Given the description of an element on the screen output the (x, y) to click on. 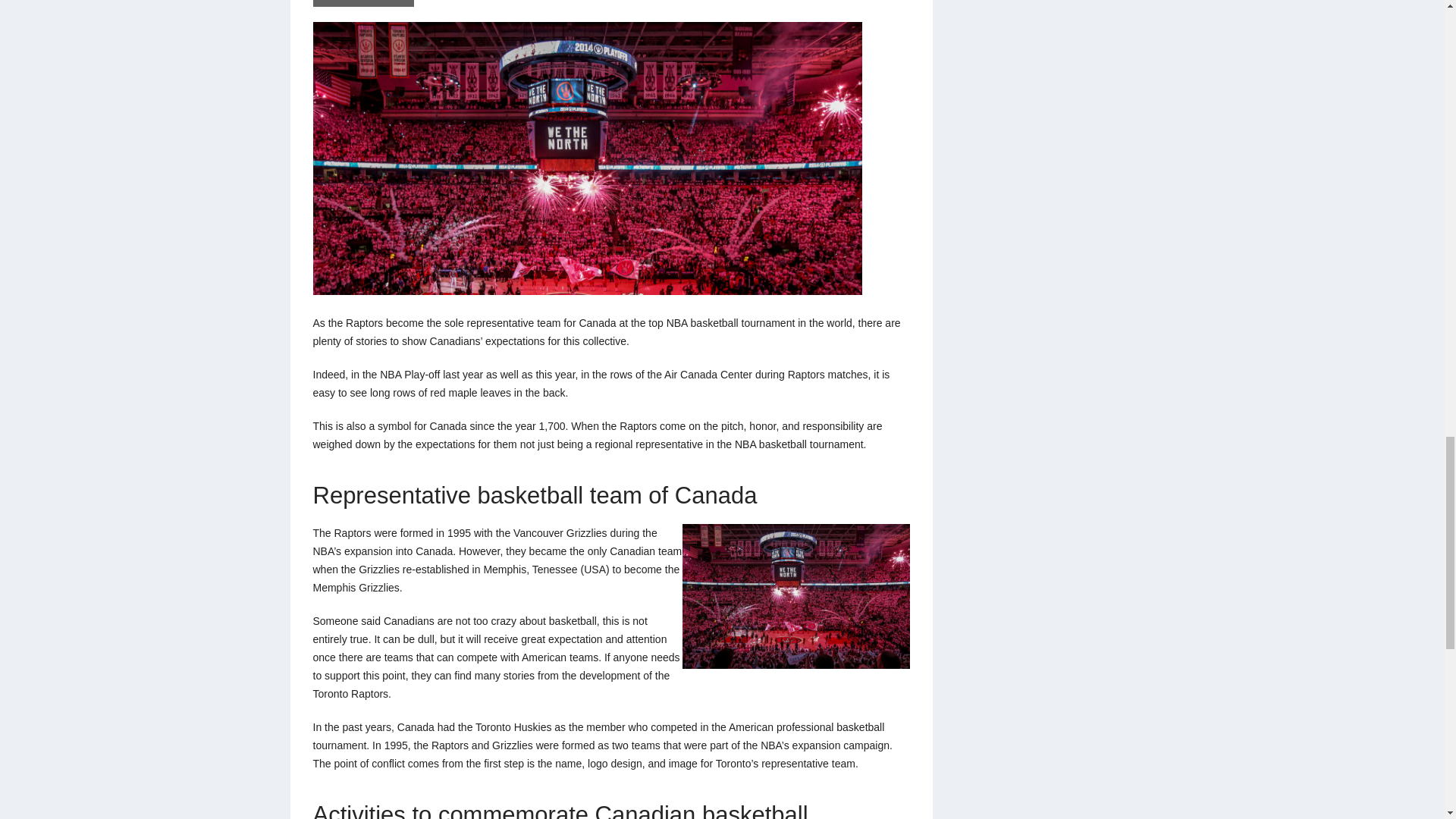
Written by editor (448, 3)
BY EDITOR (448, 3)
SPORTS LEAGUES (363, 3)
